Given the description of an element on the screen output the (x, y) to click on. 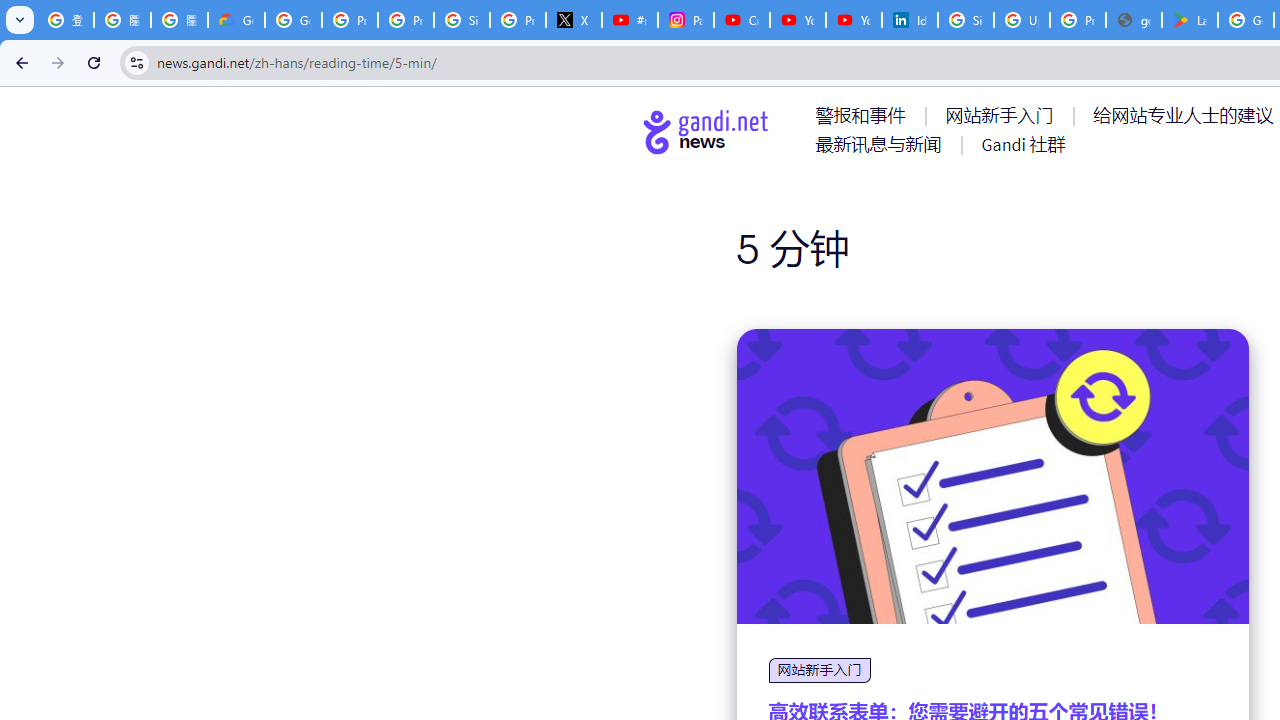
System (10, 11)
Sign in - Google Accounts (461, 20)
YouTube Culture & Trends - YouTube Top 10, 2021 (853, 20)
